Given the description of an element on the screen output the (x, y) to click on. 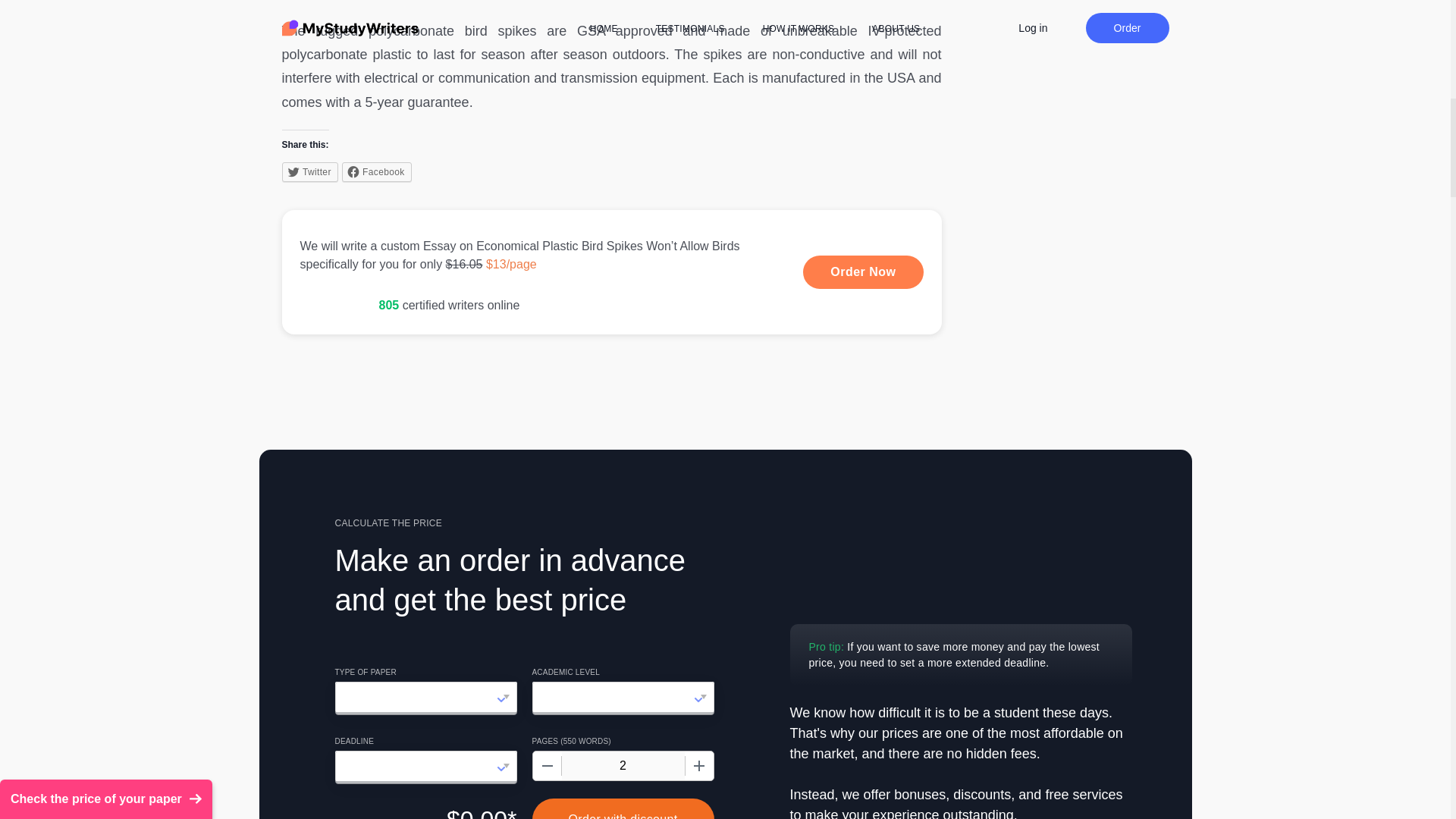
Decrease (546, 765)
Facebook (377, 171)
Learn More (863, 272)
Check the price of your paper (106, 468)
2 (622, 765)
Twitter (309, 171)
Click to share on Twitter (309, 171)
Order with discount (623, 808)
Increase (698, 765)
Learn More (612, 271)
